Given the description of an element on the screen output the (x, y) to click on. 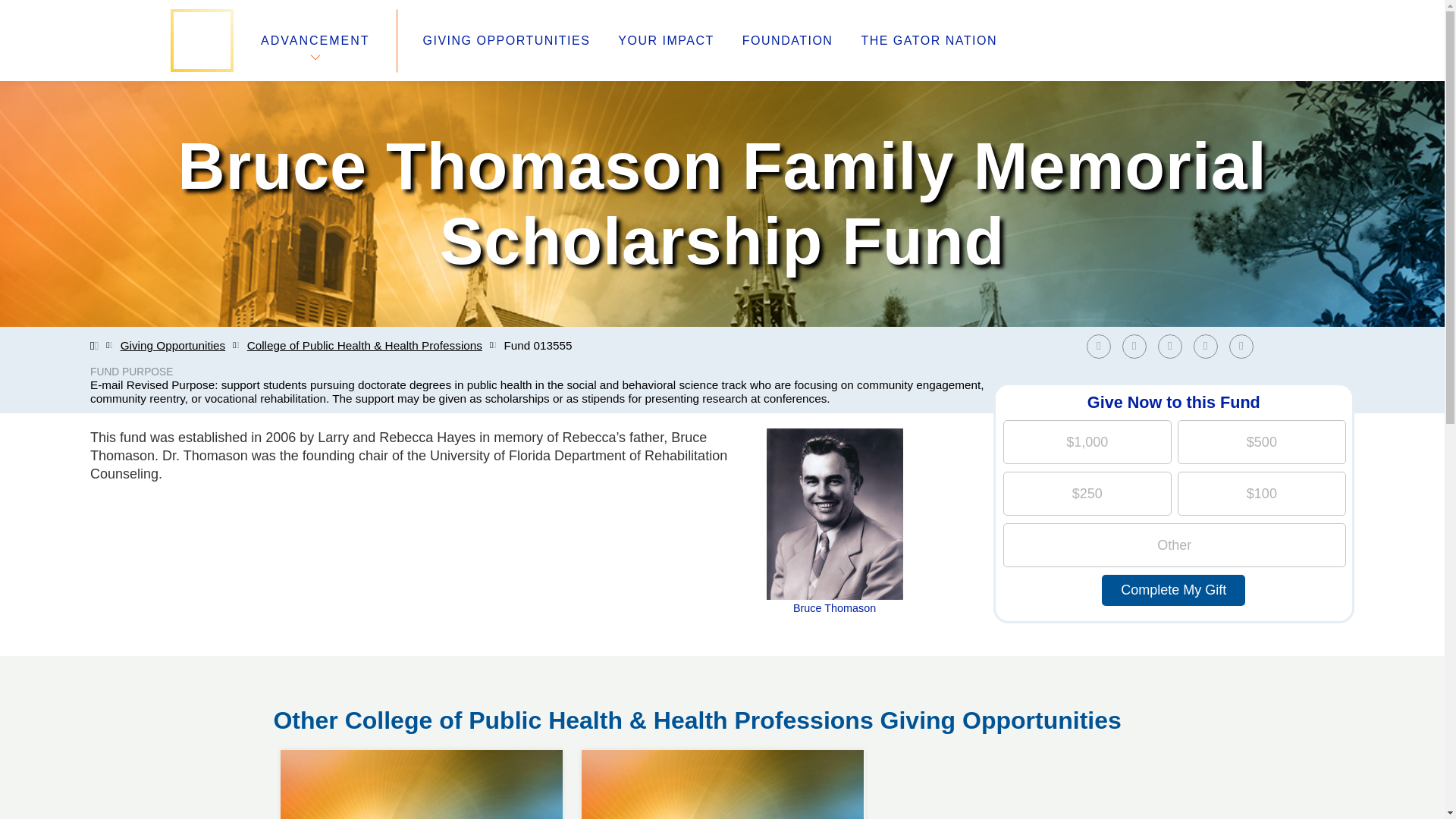
Join Our Team (317, 668)
YOUR IMPACT (665, 40)
Complete My Gift (1173, 590)
Share on LinkedIn (1169, 346)
THE GATOR NATION (928, 40)
Contact Us (306, 723)
Share on Reddit (1209, 345)
Privacy Policy (545, 704)
Disclosures (537, 723)
Share on Facebook (1102, 345)
GIVING OPPORTUNITIES (507, 40)
ADVANCEMENT (314, 40)
Share on Facebook (1098, 346)
Share on Twitter (1138, 345)
